Given the description of an element on the screen output the (x, y) to click on. 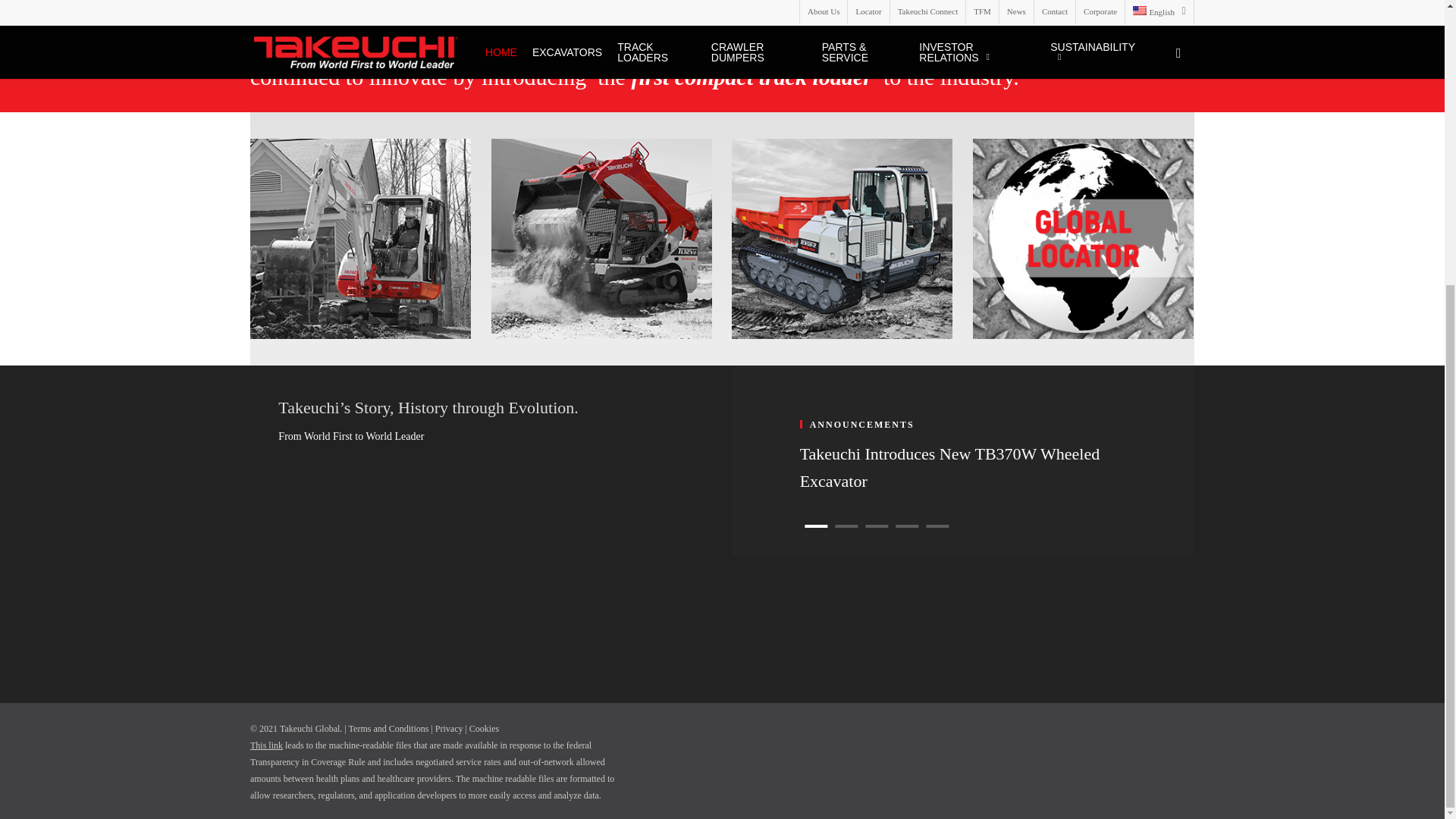
Takeuchi MFG Corporate Video (481, 560)
